Given the description of an element on the screen output the (x, y) to click on. 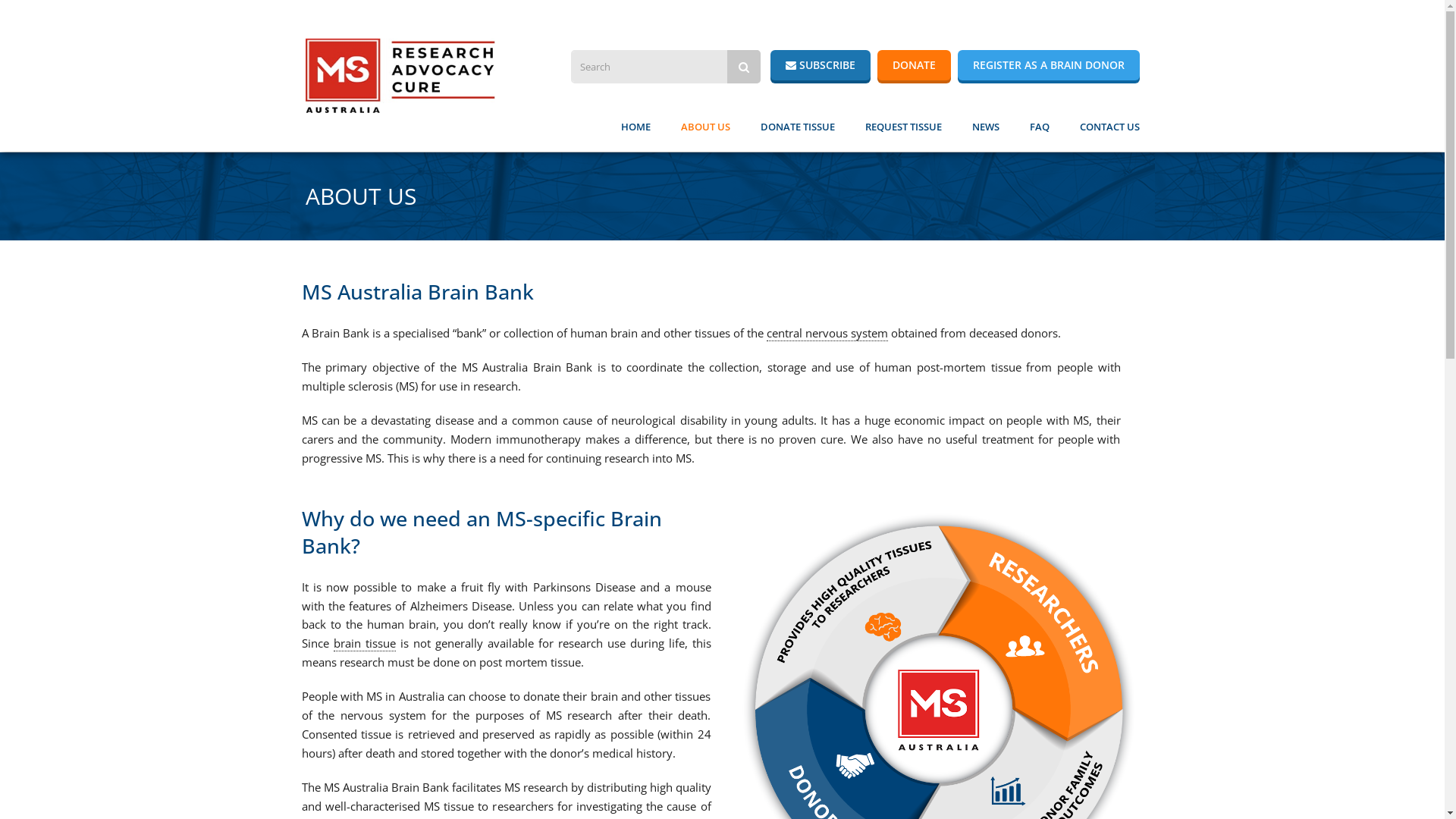
CONTACT US Element type: text (1109, 124)
DONATE TISSUE Element type: text (796, 124)
HOME Element type: text (635, 124)
FAQ Element type: text (1039, 124)
DONATE Element type: text (913, 65)
REQUEST TISSUE Element type: text (902, 124)
ABOUT US Element type: text (705, 124)
NEWS Element type: text (985, 124)
REGISTER AS A BRAIN DONOR Element type: text (1048, 65)
Our aim is to provide freedom from MS Element type: hover (399, 75)
SUBSCRIBE Element type: text (820, 65)
